Given the description of an element on the screen output the (x, y) to click on. 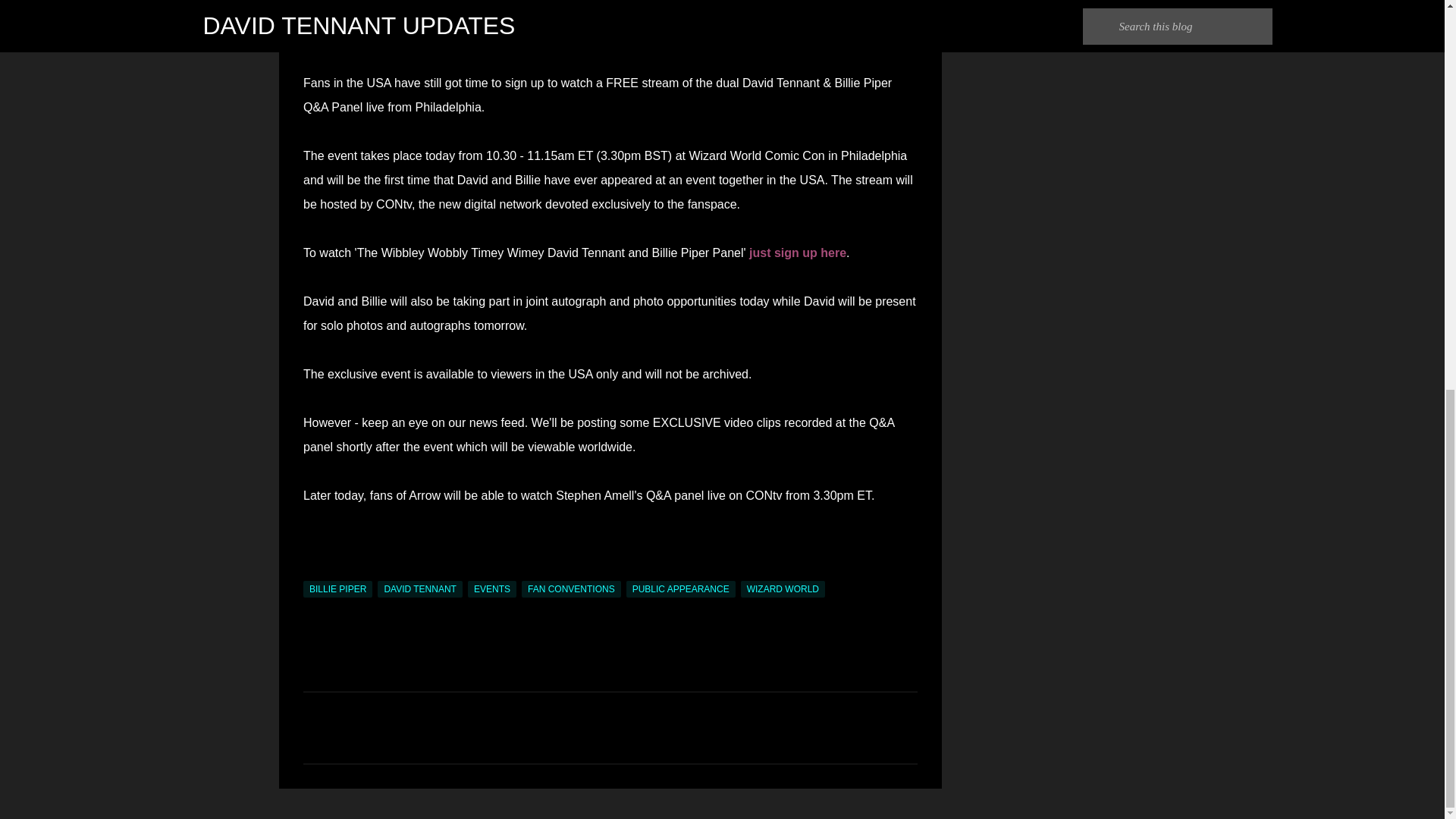
Email Post (311, 571)
WIZARD WORLD (783, 588)
DAVID TENNANT (420, 588)
just sign up here (797, 252)
EVENTS (491, 588)
PUBLIC APPEARANCE (680, 588)
BILLIE PIPER (337, 588)
FAN CONVENTIONS (571, 588)
